Given the description of an element on the screen output the (x, y) to click on. 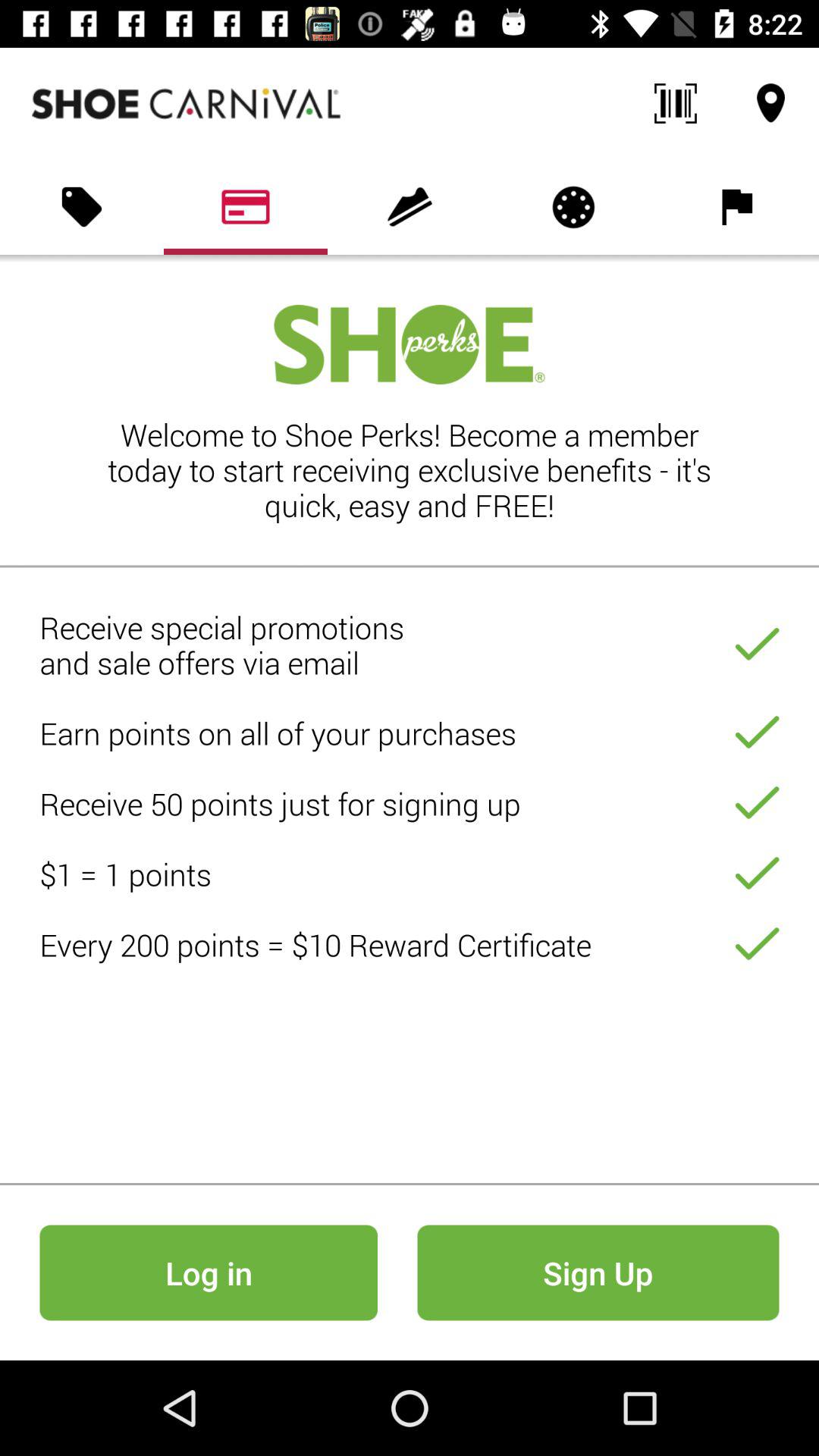
click on gps (771, 103)
select the symbol which is to the immediate left of navigation symbol (675, 103)
click on shoe carnival (185, 103)
select the option news feed which is after tag option (245, 207)
